Given the description of an element on the screen output the (x, y) to click on. 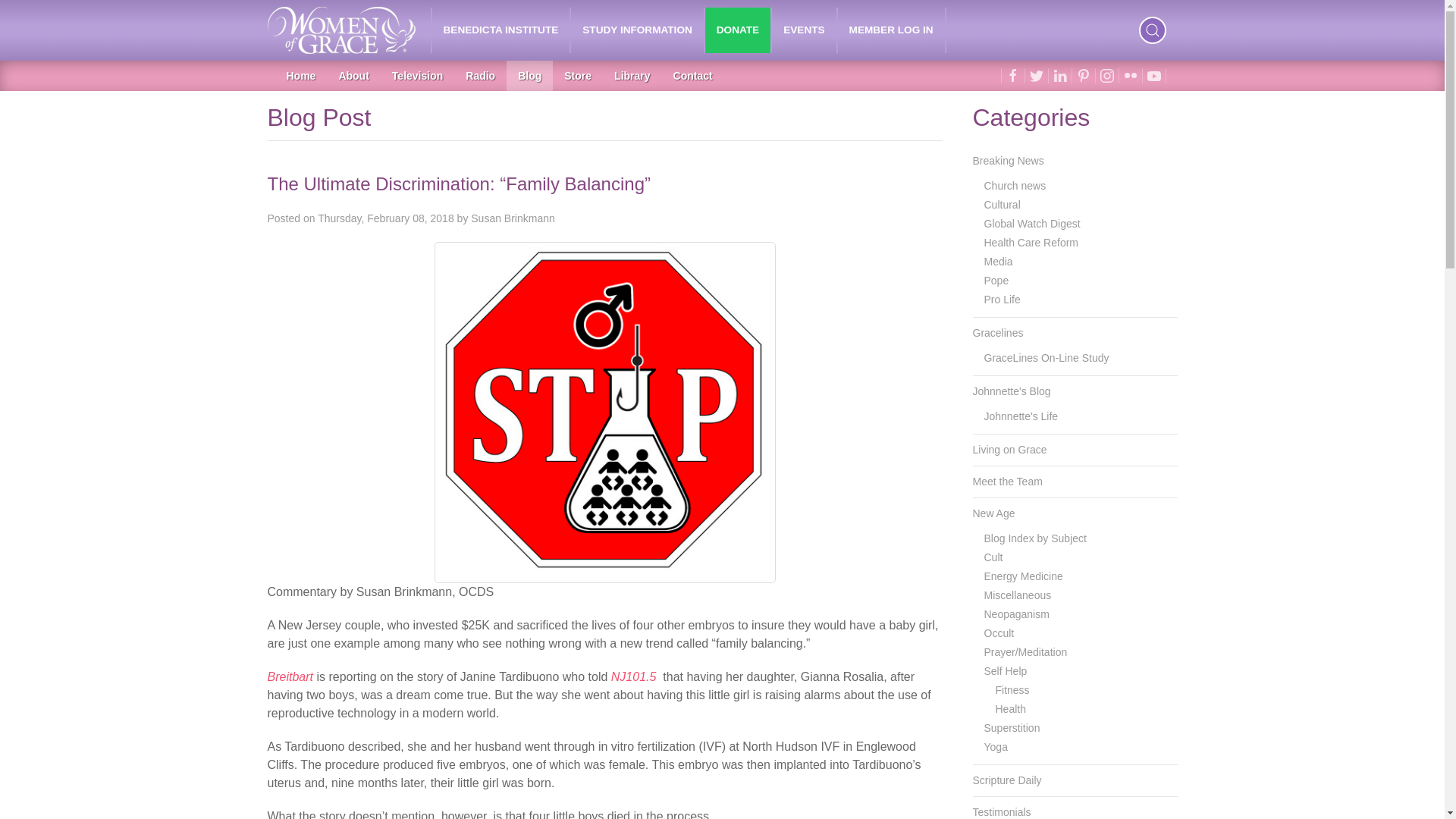
STUDY INFORMATION (636, 30)
Store (577, 75)
MEMBER LOG IN (891, 30)
NJ101.5 (633, 676)
Thursday, February 08, 2018 (385, 218)
BENEDICTA INSTITUTE (501, 30)
Breitbart (289, 676)
EVENTS (803, 30)
Television (417, 75)
Radio (480, 75)
Contact (692, 75)
DONATE (737, 30)
10:31 am (385, 218)
Library (631, 75)
Blog (529, 75)
